Given the description of an element on the screen output the (x, y) to click on. 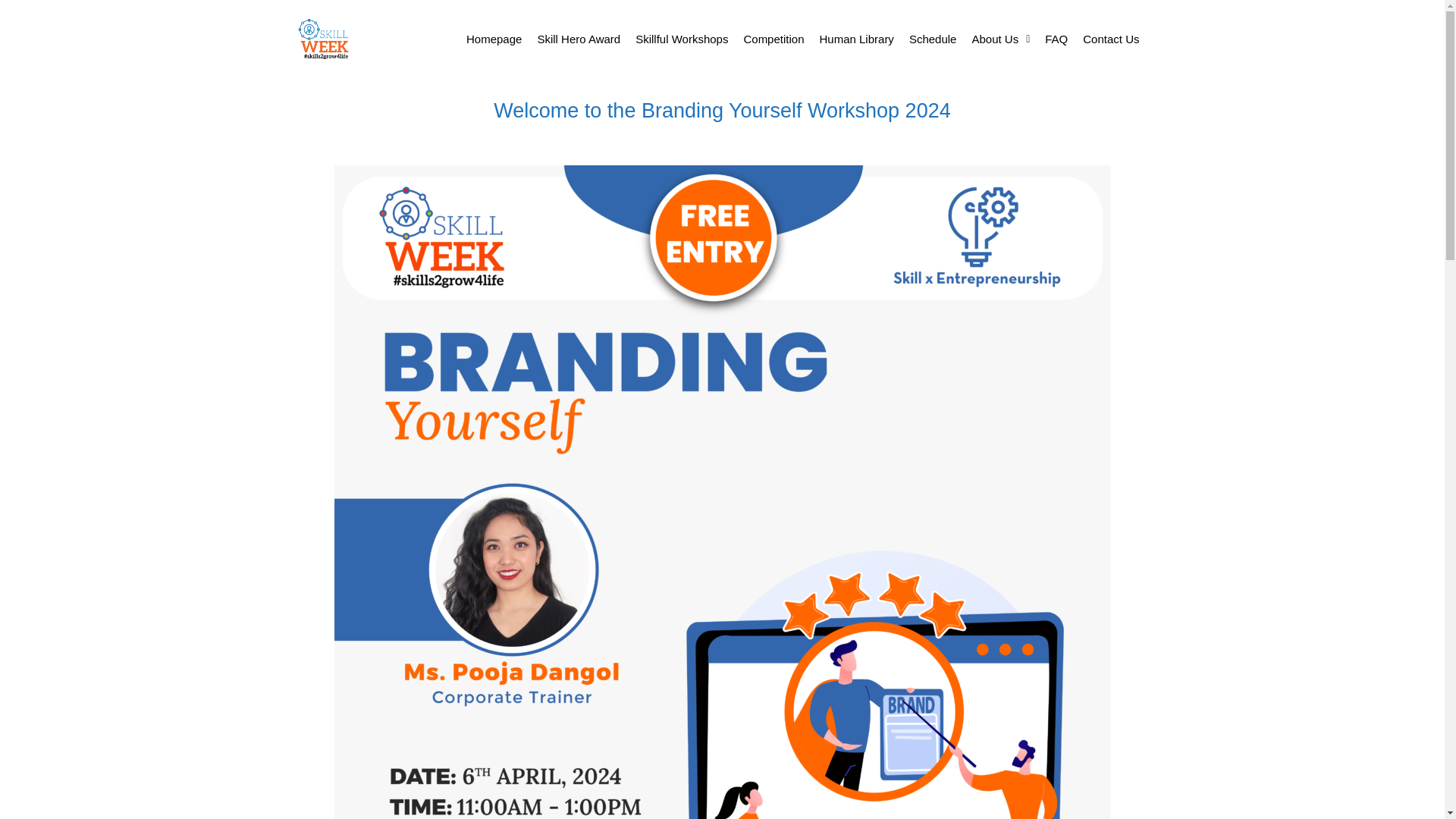
Skillful Workshops (681, 38)
Competition (772, 38)
Contact Us (1111, 38)
Skill Hero Award (578, 38)
About Us (999, 38)
Schedule (932, 38)
Human Library (855, 38)
Homepage (493, 38)
FAQ (1055, 38)
